Given the description of an element on the screen output the (x, y) to click on. 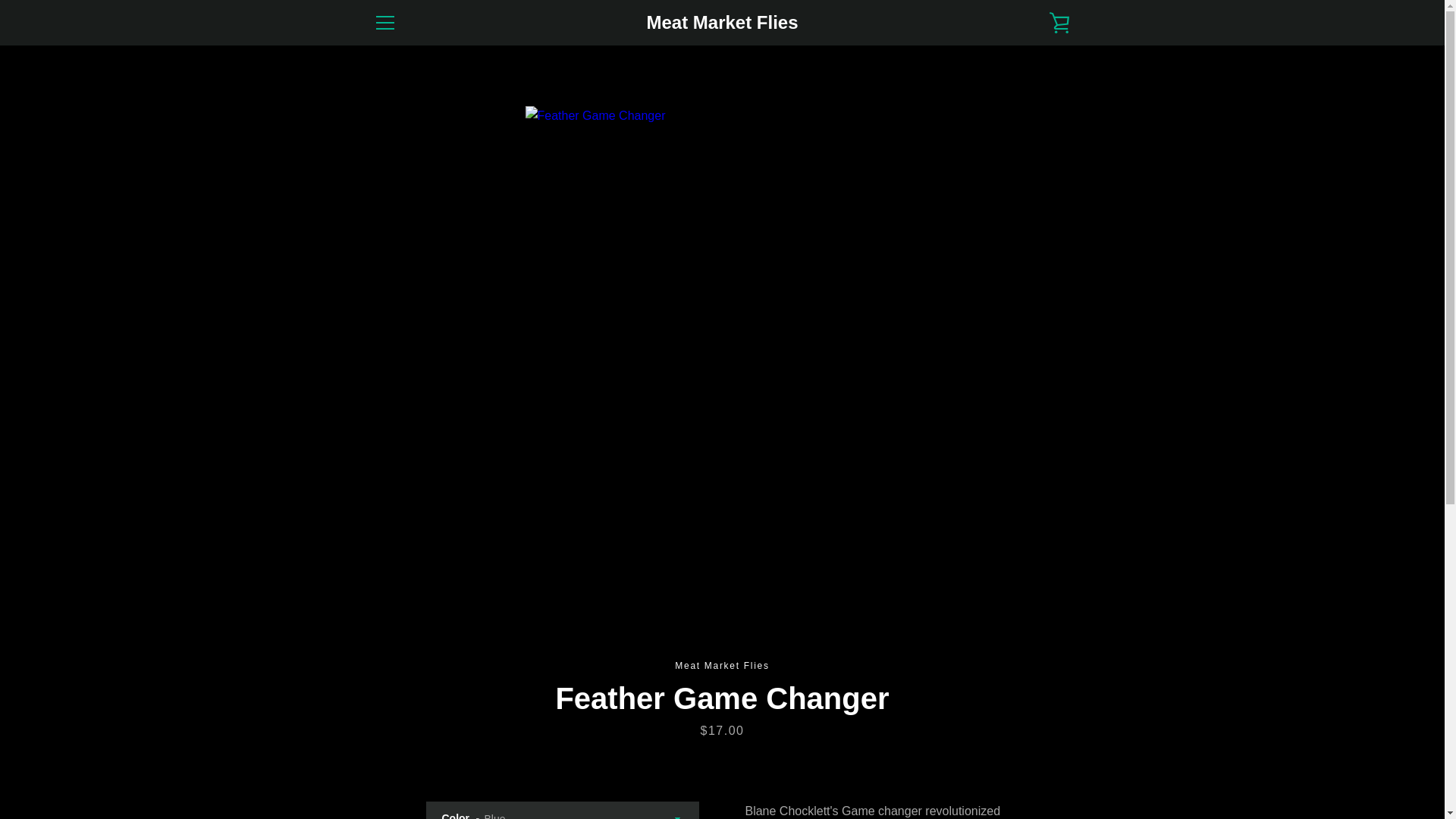
Meat Market Flies (734, 758)
Ok (1039, 682)
VIEW CART (1059, 22)
EXPAND NAVIGATION (384, 22)
Ok (1039, 682)
Powered by Shopify (767, 768)
Meat Market Flies (721, 23)
SEARCH (394, 643)
